Given the description of an element on the screen output the (x, y) to click on. 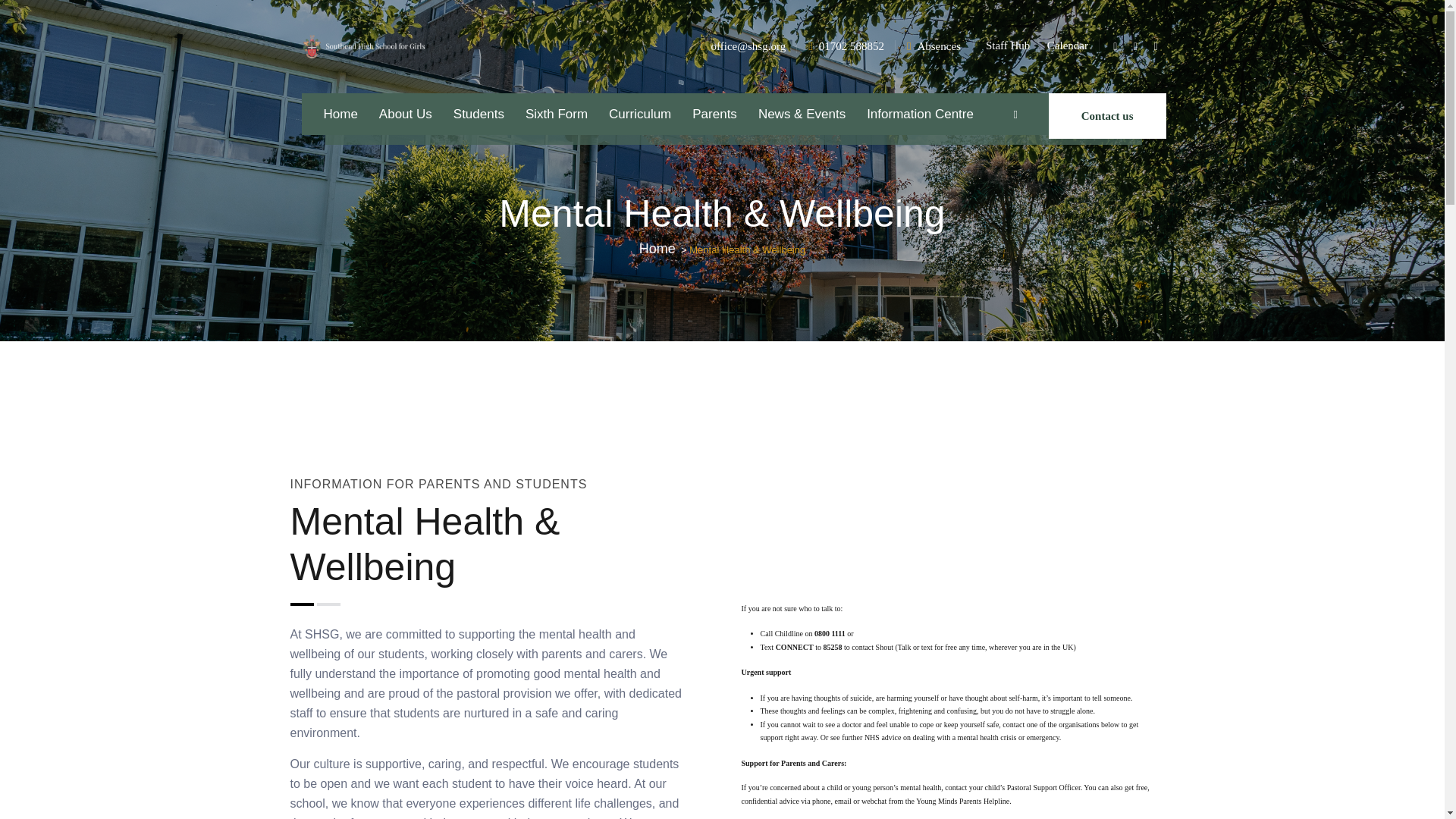
Students (478, 113)
Calendar (1066, 45)
01702 588852 (850, 46)
Absences (938, 46)
Southend High School for Girls (364, 46)
Staff Hub (1007, 45)
Home (340, 113)
Go to Southend High School for Girls. (657, 248)
About Us (405, 113)
